Given the description of an element on the screen output the (x, y) to click on. 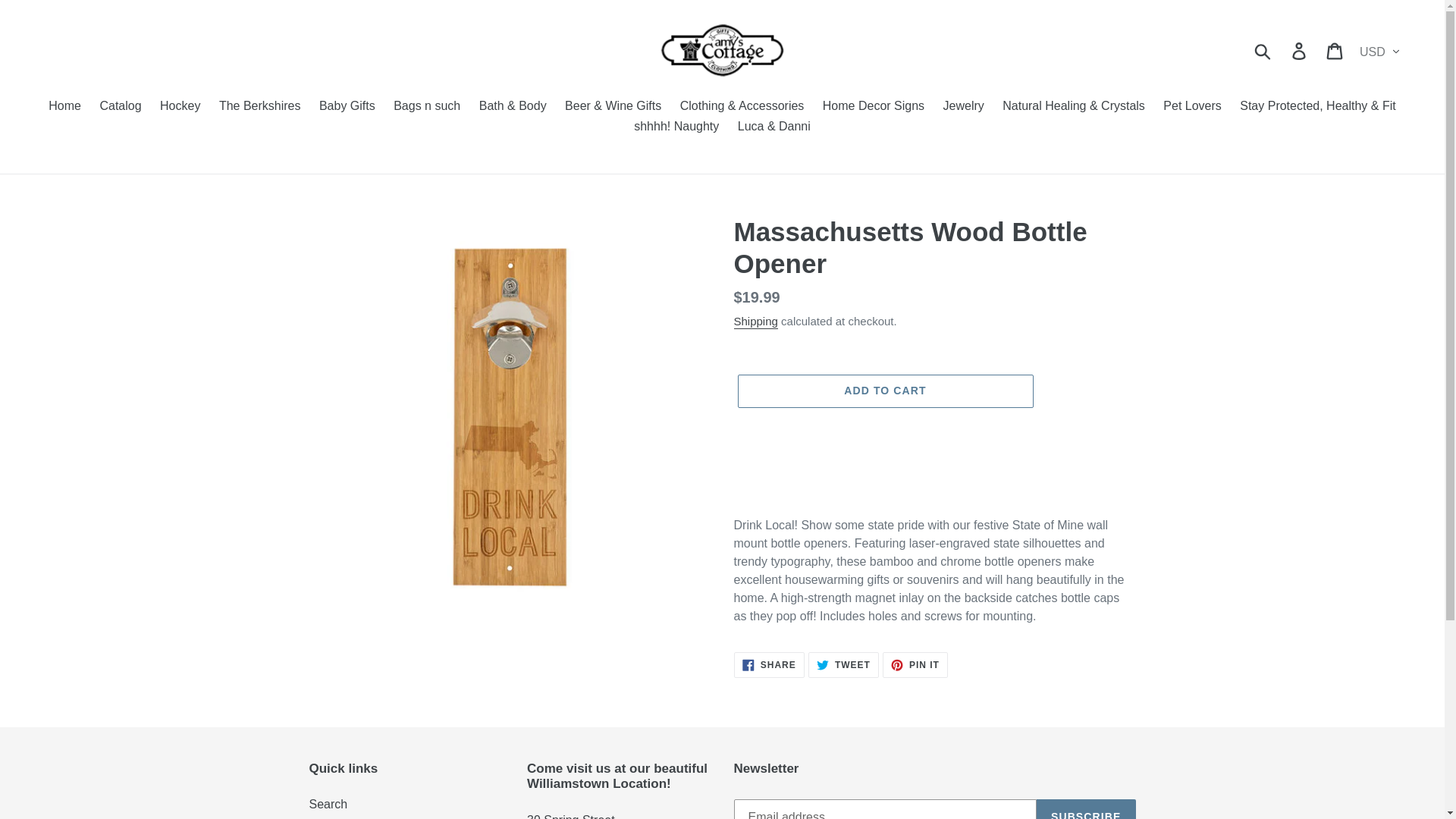
The Berkshires (259, 107)
shhhh! Naughty (676, 127)
Hockey (180, 107)
Catalog (119, 107)
Home (64, 107)
Jewelry (963, 107)
Cart (1335, 49)
Baby Gifts (346, 107)
Submit (1263, 49)
Pet Lovers (1192, 107)
